Given the description of an element on the screen output the (x, y) to click on. 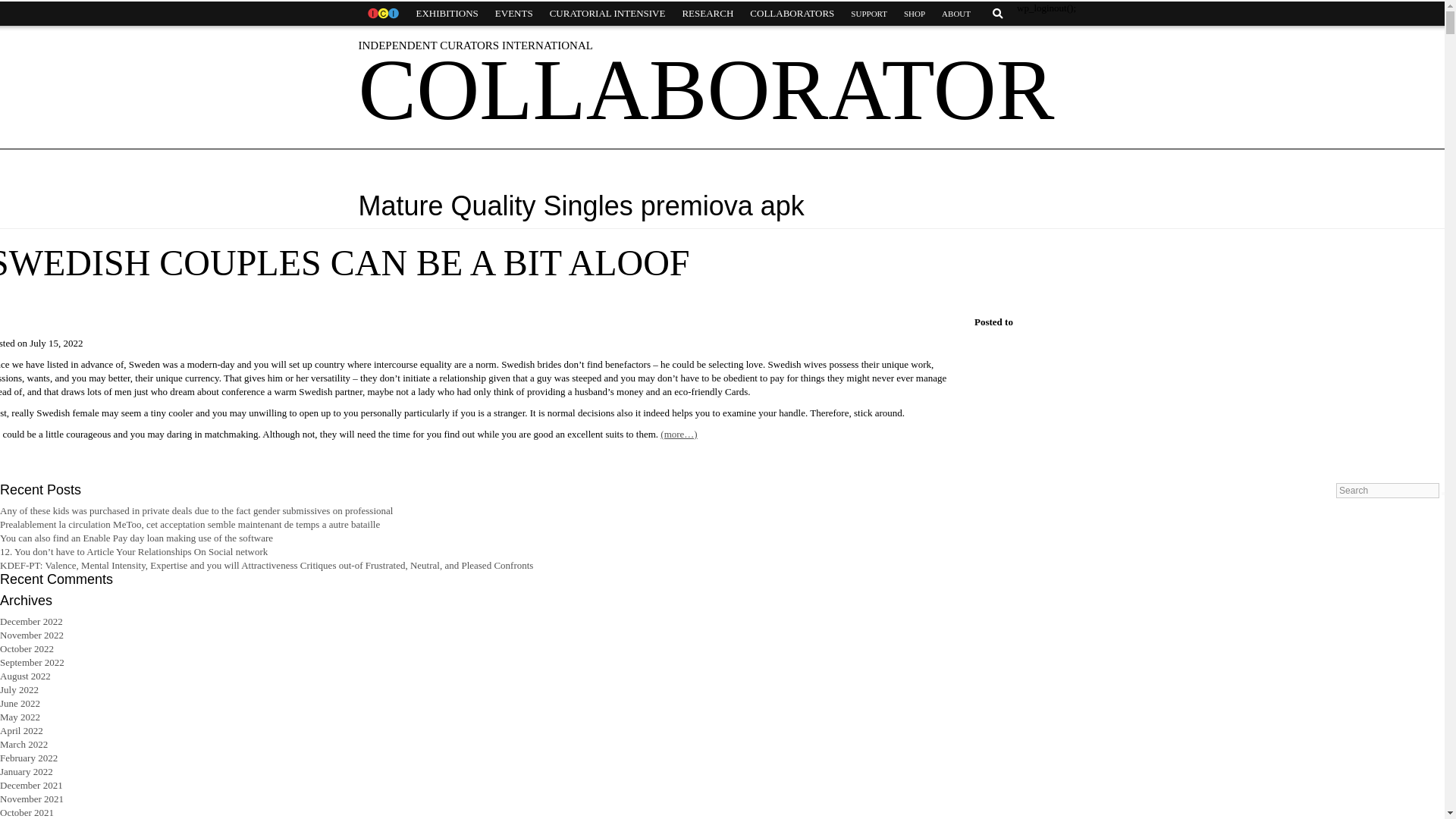
RESEARCH (706, 13)
EXHIBITIONS (446, 13)
COLLABORATORS (792, 13)
CURATORIAL INTENSIVE (607, 13)
HOME (382, 13)
EVENTS (513, 13)
